Given the description of an element on the screen output the (x, y) to click on. 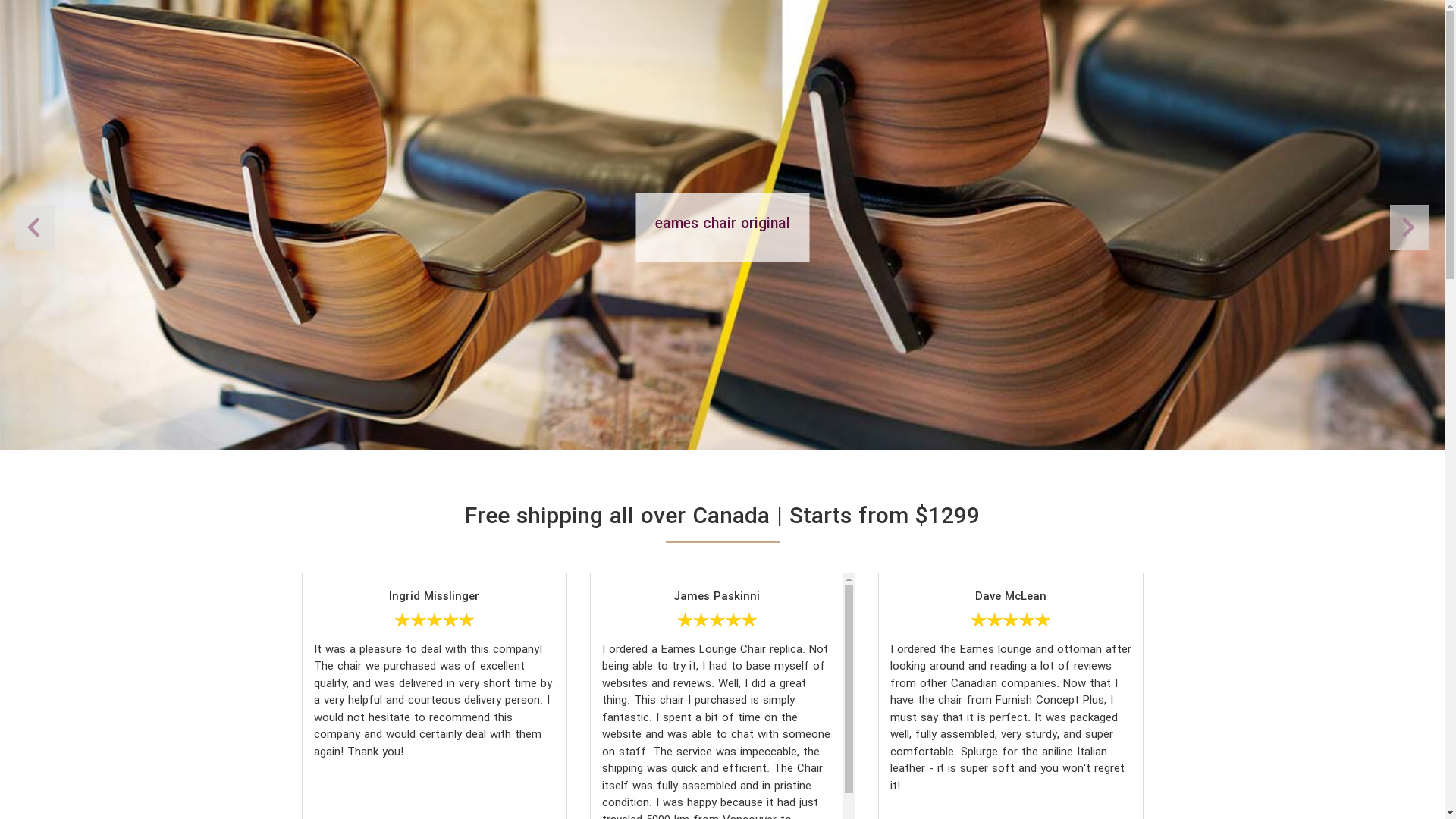
Previous Element type: text (1409, 227)
Next Element type: text (34, 227)
